Given the description of an element on the screen output the (x, y) to click on. 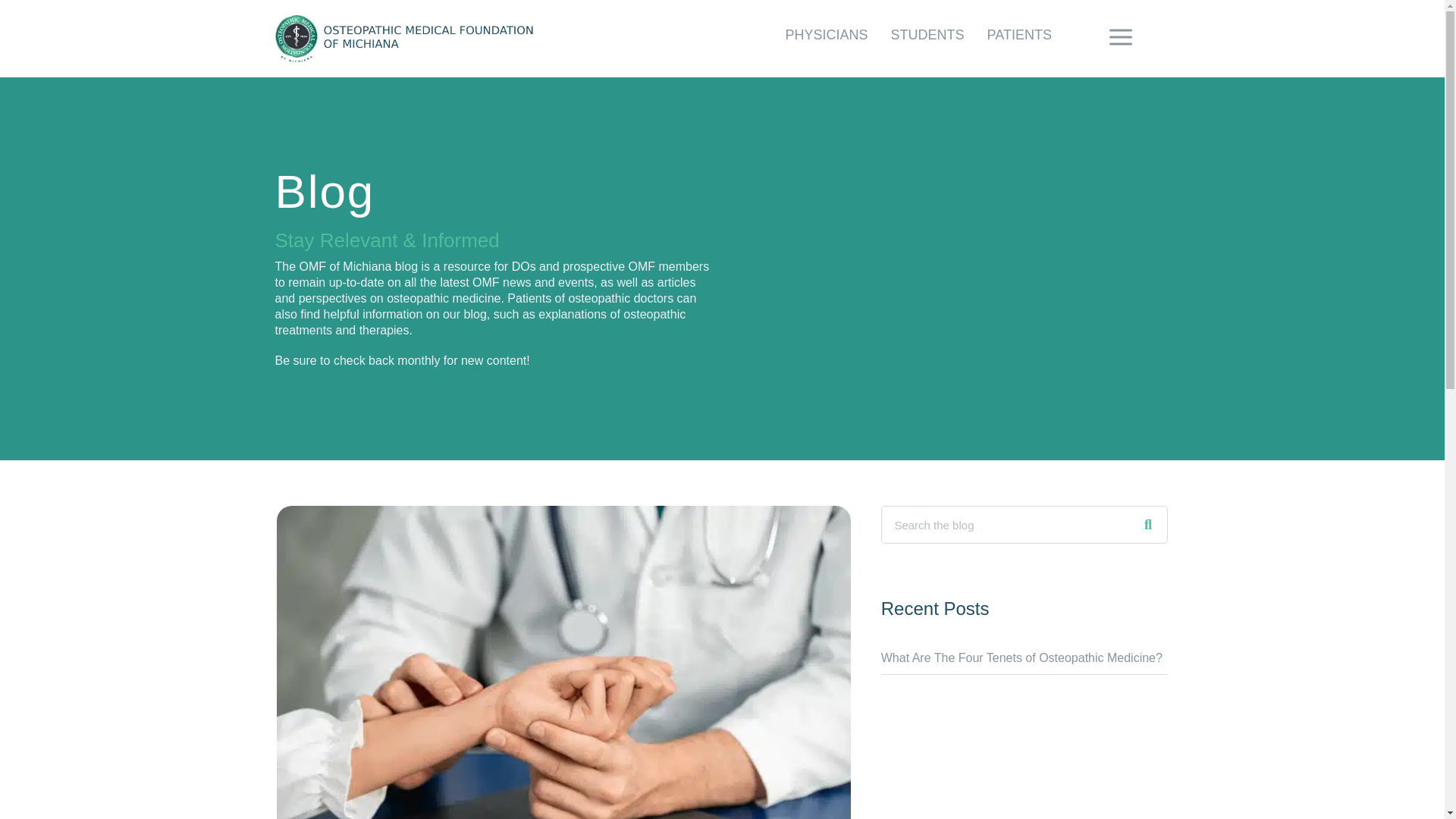
STUDENTS (927, 35)
PHYSICIANS (826, 35)
What Are The Four Tenets of Osteopathic Medicine? (1020, 657)
PATIENTS (1018, 35)
